Given the description of an element on the screen output the (x, y) to click on. 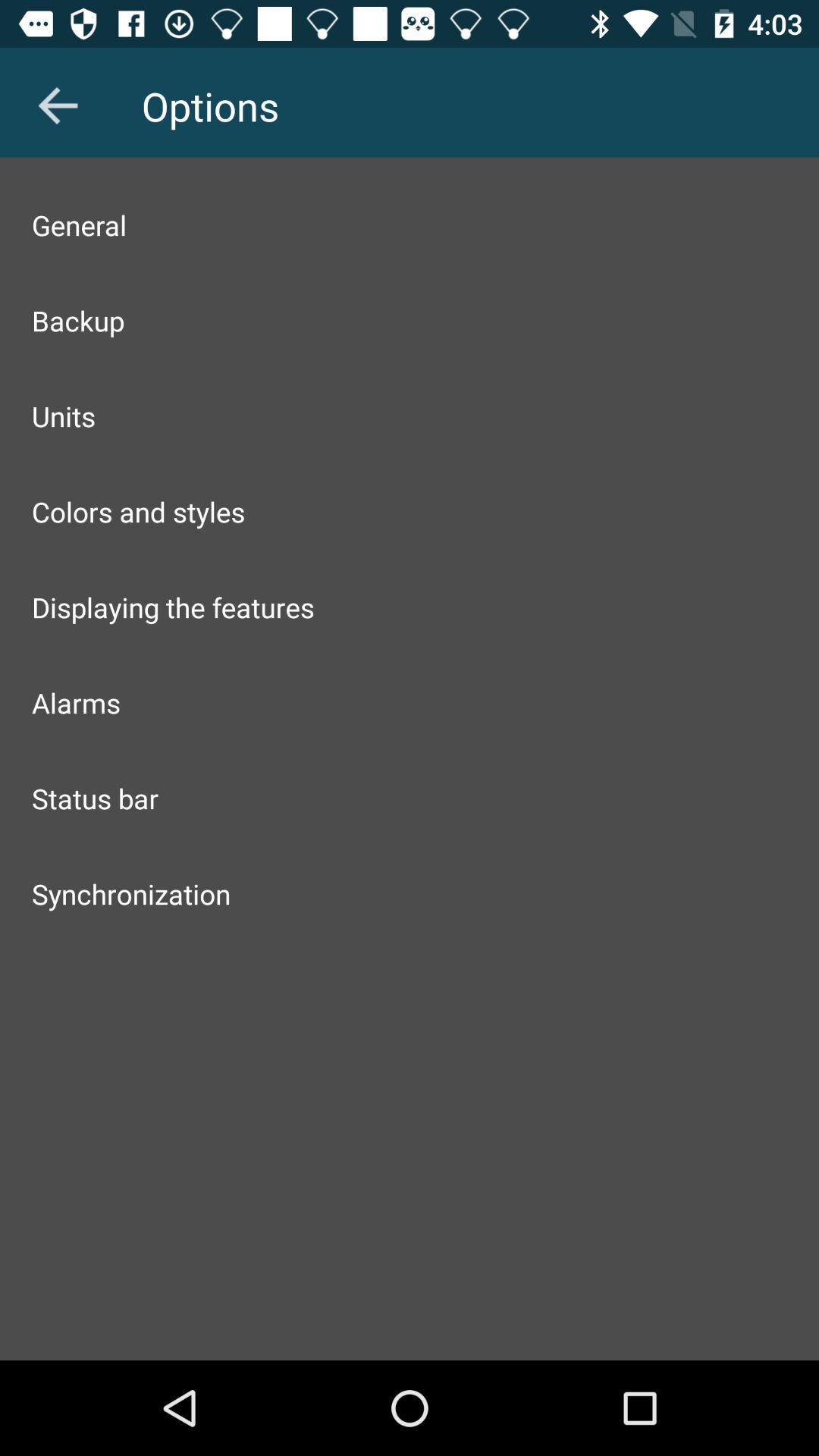
click item above general (57, 105)
